Given the description of an element on the screen output the (x, y) to click on. 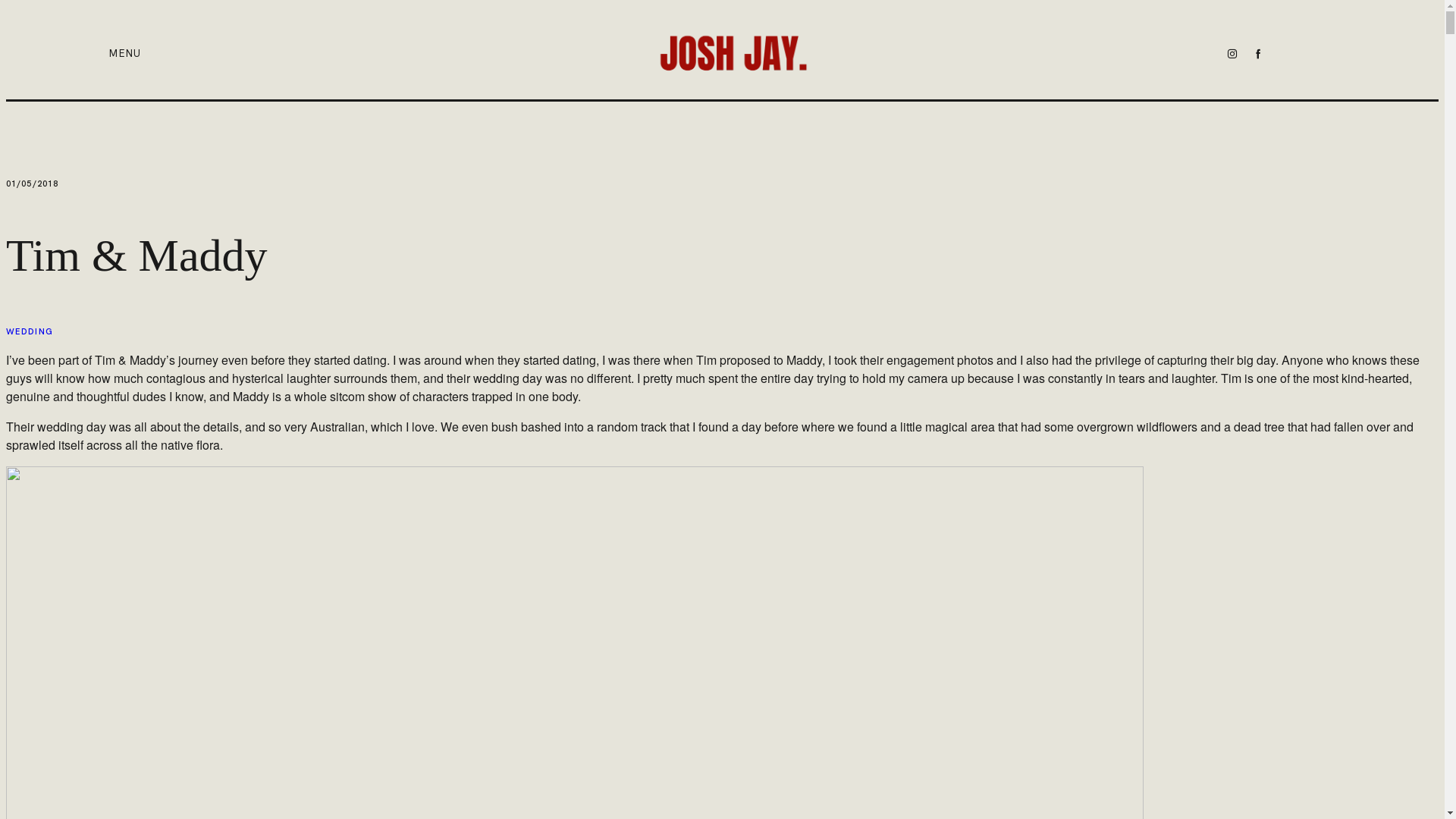
WEDDING Element type: text (29, 331)
